Given the description of an element on the screen output the (x, y) to click on. 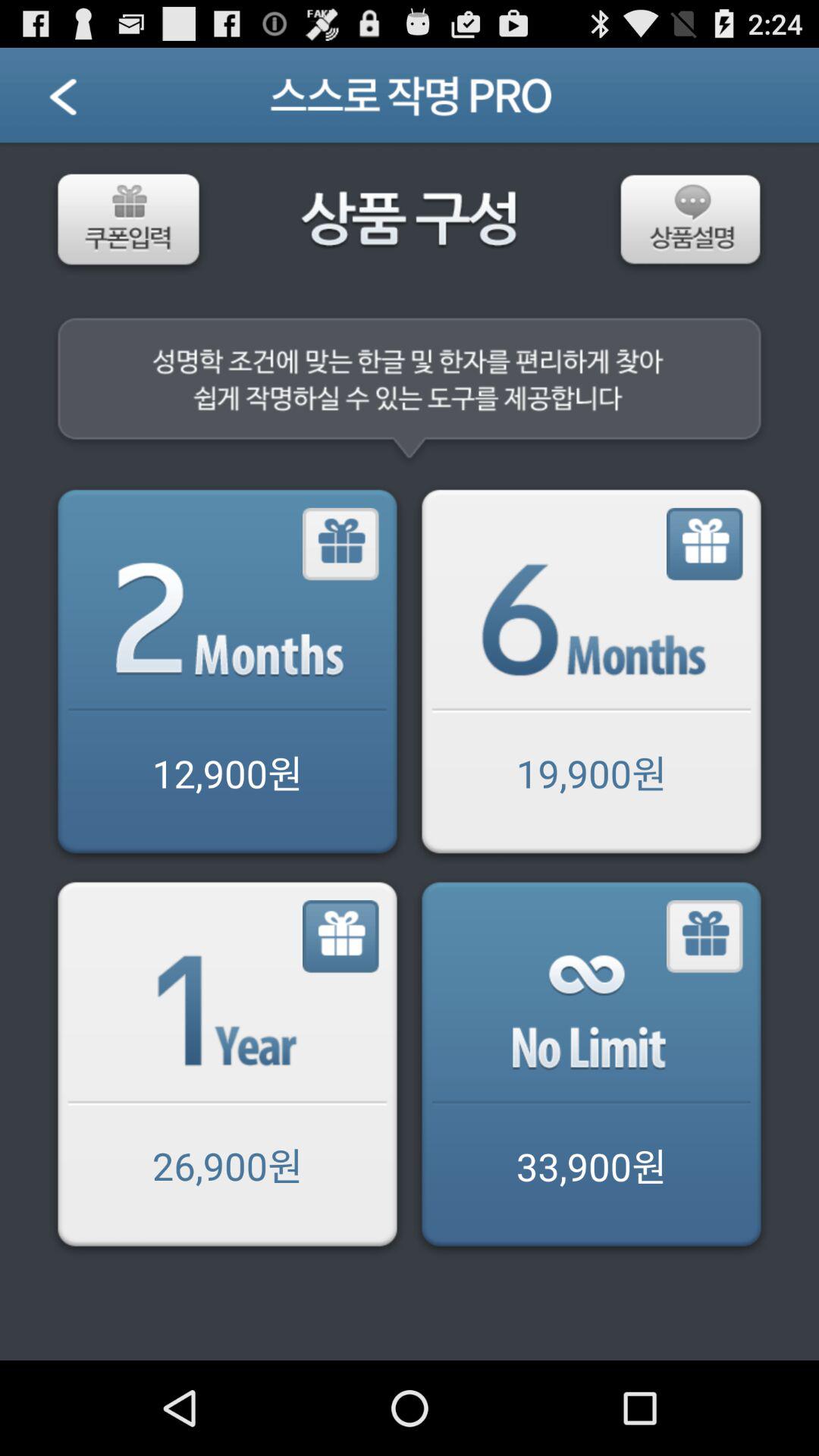
share the article (340, 544)
